Given the description of an element on the screen output the (x, y) to click on. 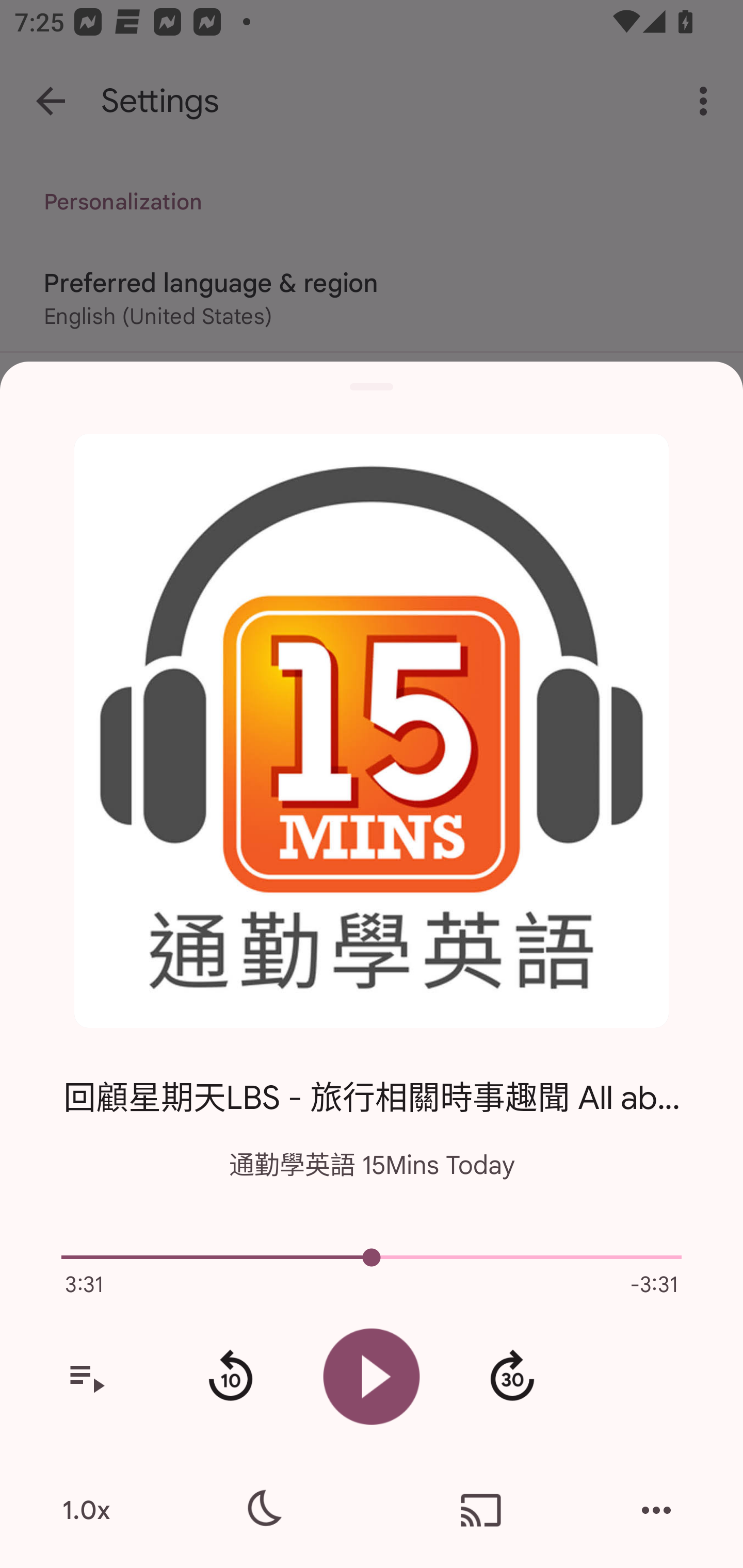
Open the show page for 通勤學英語 15Mins Today (371, 731)
5000.0 Current episode playback (371, 1257)
Play (371, 1376)
View your queue (86, 1376)
Rewind 10 seconds (230, 1376)
Fast forward 30 second (511, 1376)
1.0x Playback speed is 1.0. (86, 1510)
Sleep timer settings (261, 1510)
Cast. Disconnected (480, 1510)
More actions (655, 1510)
